Given the description of an element on the screen output the (x, y) to click on. 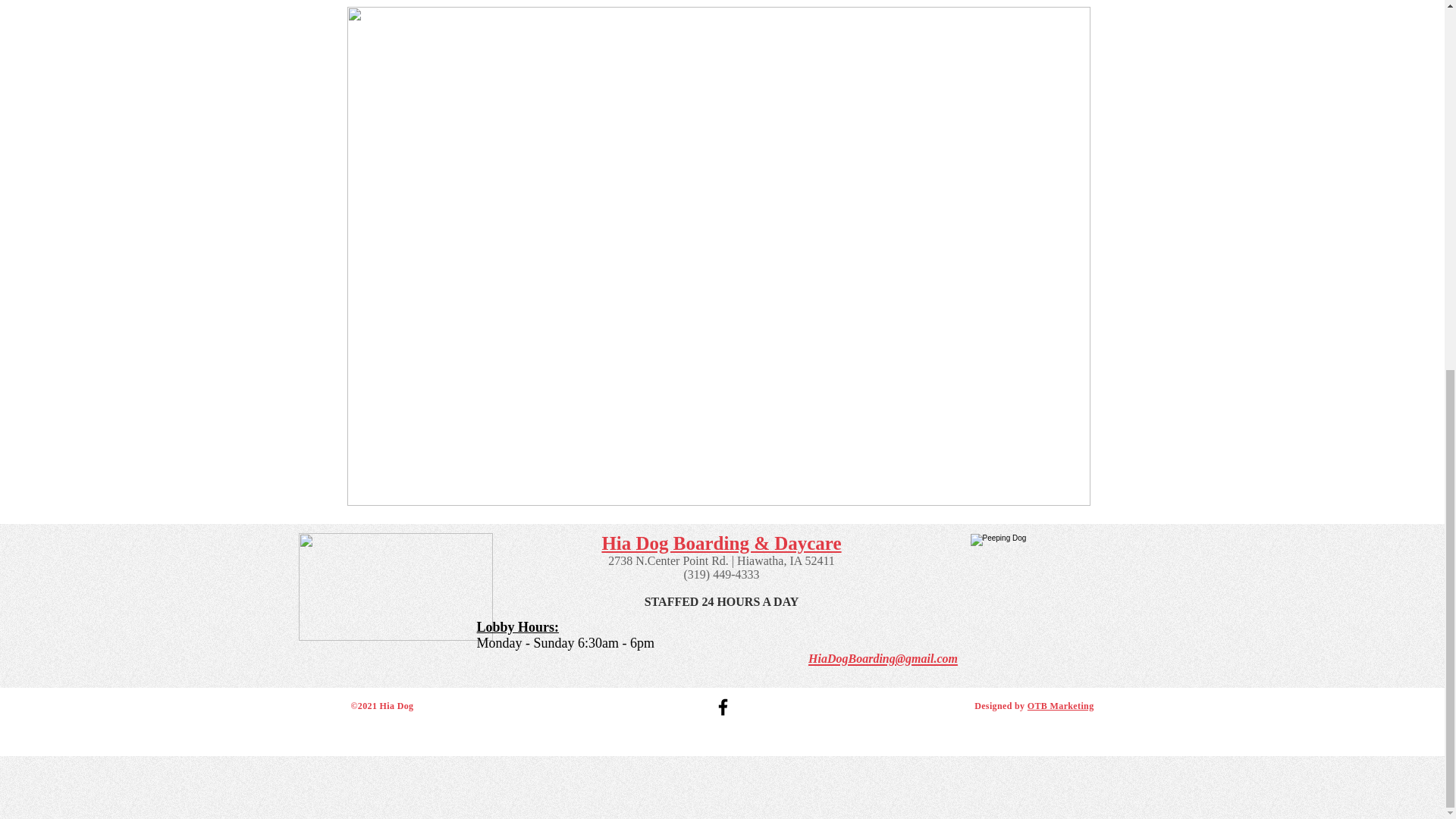
OTB Marketing (1060, 706)
